Given the description of an element on the screen output the (x, y) to click on. 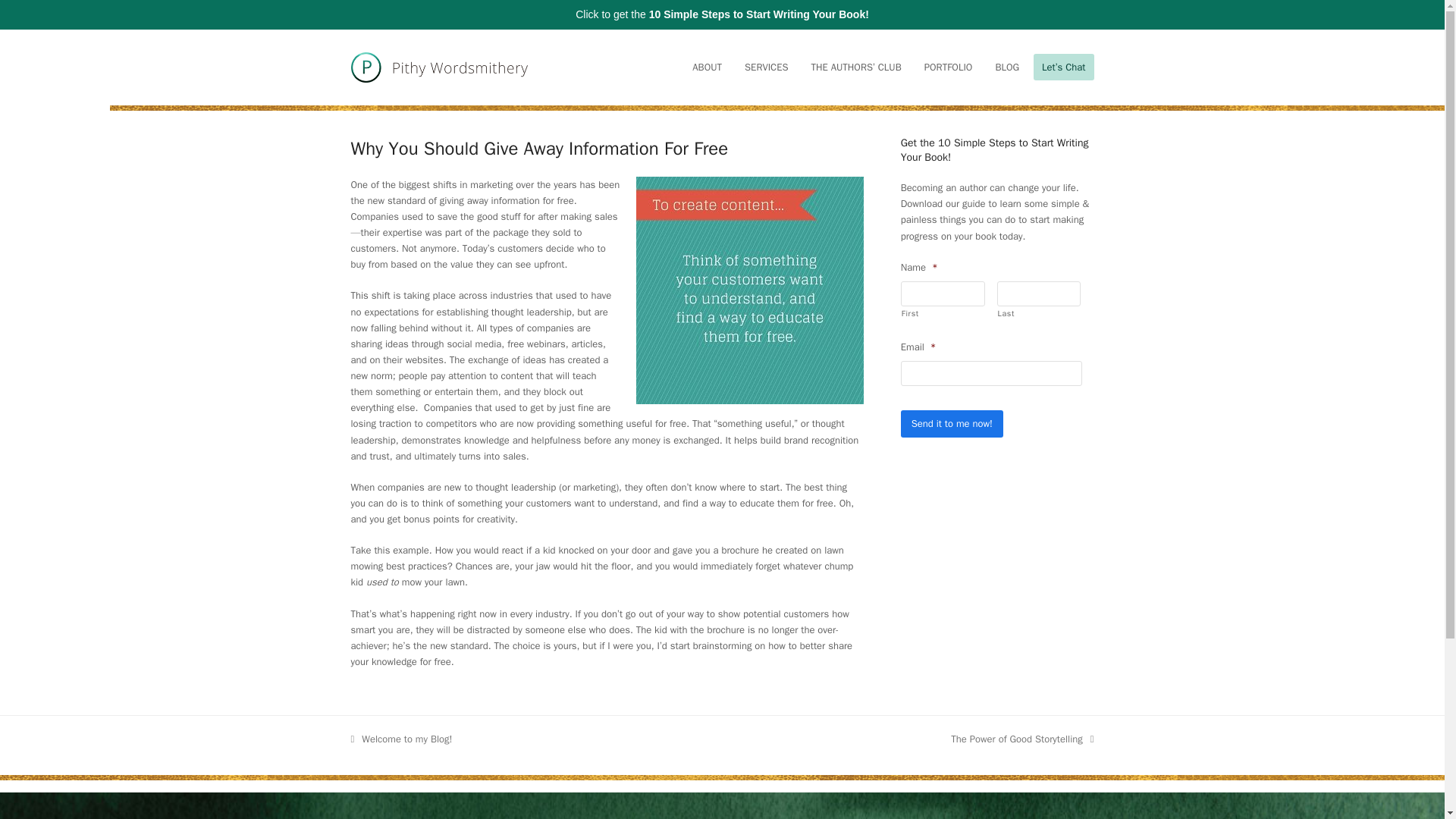
Send it to me now! (952, 423)
SERVICES (766, 67)
BLOG (1007, 67)
PORTFOLIO (948, 67)
10 Simple Steps to Start Writing Your Book! (400, 738)
ABOUT (759, 14)
Send it to me now! (1021, 738)
